Given the description of an element on the screen output the (x, y) to click on. 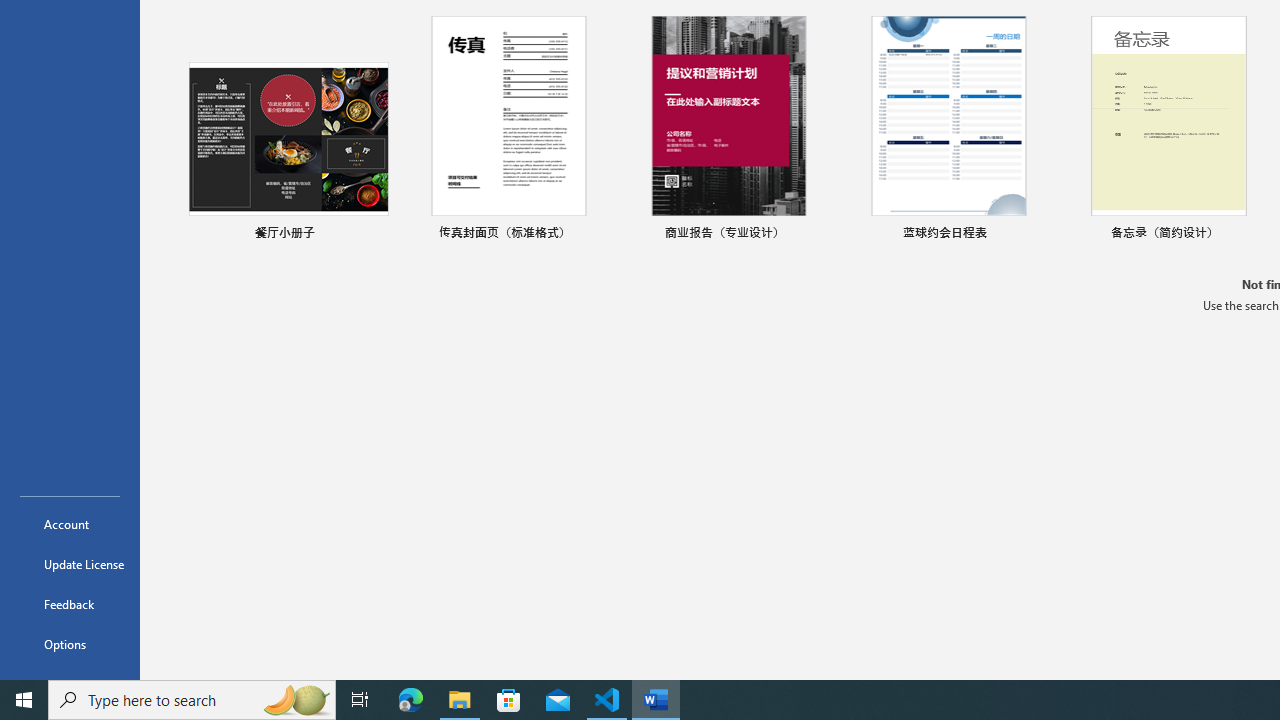
Options (69, 643)
Account (69, 523)
Feedback (69, 603)
Pin to list (1255, 234)
Update License (69, 563)
